Given the description of an element on the screen output the (x, y) to click on. 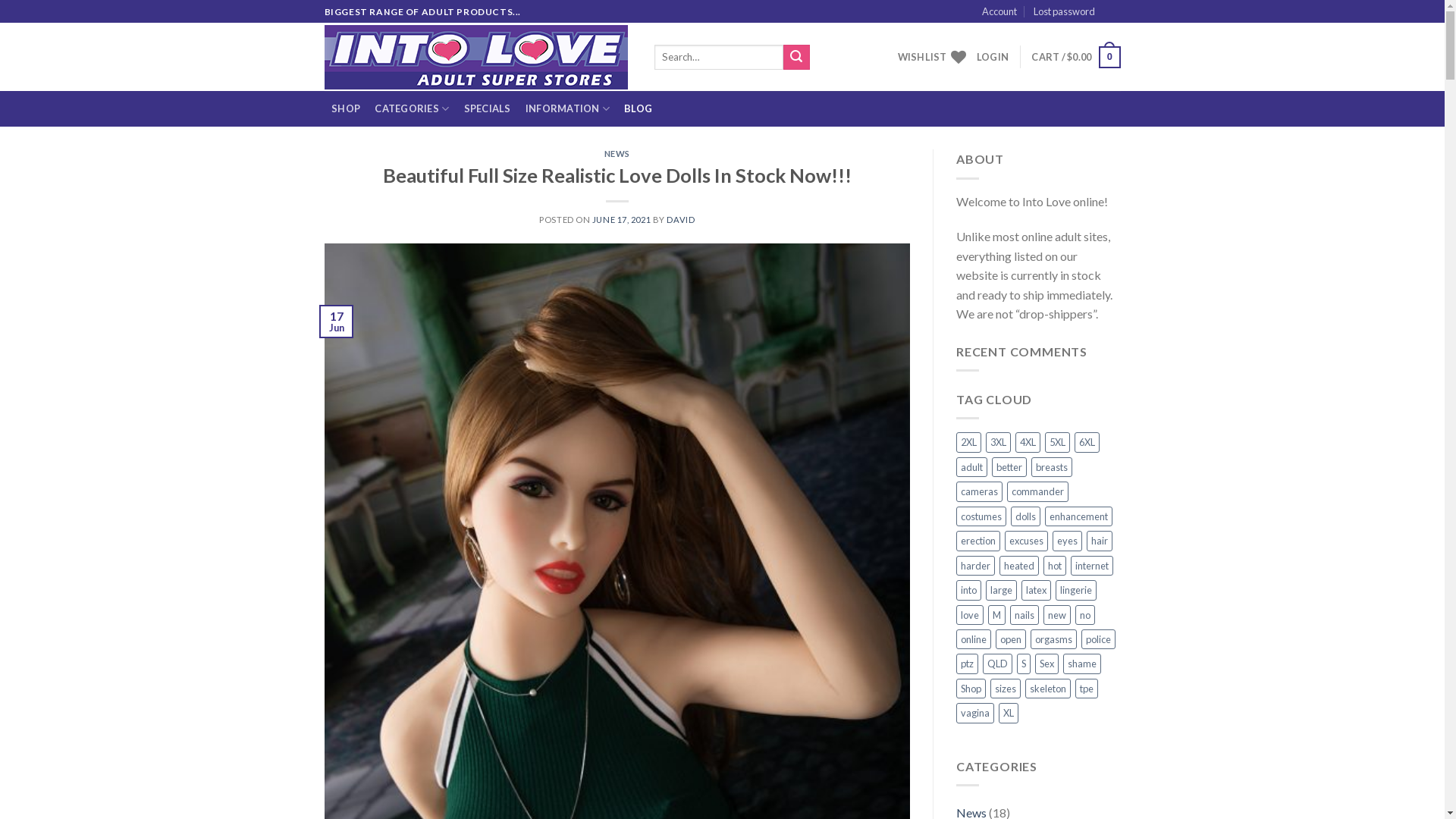
latex Element type: text (1036, 589)
5XL Element type: text (1057, 441)
Sex Element type: text (1046, 663)
ptz Element type: text (967, 663)
dolls Element type: text (1025, 516)
eyes Element type: text (1067, 540)
tpe Element type: text (1086, 688)
new Element type: text (1056, 614)
better Element type: text (1008, 466)
SPECIALS Element type: text (486, 108)
police Element type: text (1098, 639)
skeleton Element type: text (1047, 688)
breasts Element type: text (1051, 466)
3XL Element type: text (997, 441)
hot Element type: text (1054, 565)
Shop Element type: text (970, 688)
BLOG Element type: text (638, 108)
online Element type: text (973, 639)
WISHLIST Element type: text (931, 56)
cameras Element type: text (979, 491)
INFORMATION Element type: text (566, 108)
JUNE 17, 2021 Element type: text (621, 219)
Search Element type: text (796, 57)
into Element type: text (968, 589)
6XL Element type: text (1086, 441)
erection Element type: text (978, 540)
SHOP Element type: text (345, 108)
XL Element type: text (1008, 712)
M Element type: text (996, 614)
orgasms Element type: text (1053, 639)
Beautiful Full Size Realistic Love Dolls In Stock Now!!! Element type: text (616, 174)
commander Element type: text (1037, 491)
lingerie Element type: text (1075, 589)
CART / $0.00
0 Element type: text (1075, 57)
4XL Element type: text (1027, 441)
vagina Element type: text (975, 712)
no Element type: text (1085, 614)
QLD Element type: text (997, 663)
adult Element type: text (971, 466)
CATEGORIES Element type: text (411, 108)
2XL Element type: text (968, 441)
costumes Element type: text (981, 516)
Into Love - adult shop Element type: hover (477, 57)
LOGIN Element type: text (992, 56)
harder Element type: text (975, 565)
nails Element type: text (1024, 614)
love Element type: text (969, 614)
sizes Element type: text (1005, 688)
Lost password Element type: text (1064, 11)
enhancement Element type: text (1078, 516)
internet Element type: text (1091, 565)
Account Element type: text (999, 11)
DAVID Element type: text (680, 219)
hair Element type: text (1099, 540)
shame Element type: text (1082, 663)
open Element type: text (1010, 639)
NEWS Element type: text (617, 153)
large Element type: text (1000, 589)
S Element type: text (1023, 663)
heated Element type: text (1018, 565)
excuses Element type: text (1026, 540)
